Given the description of an element on the screen output the (x, y) to click on. 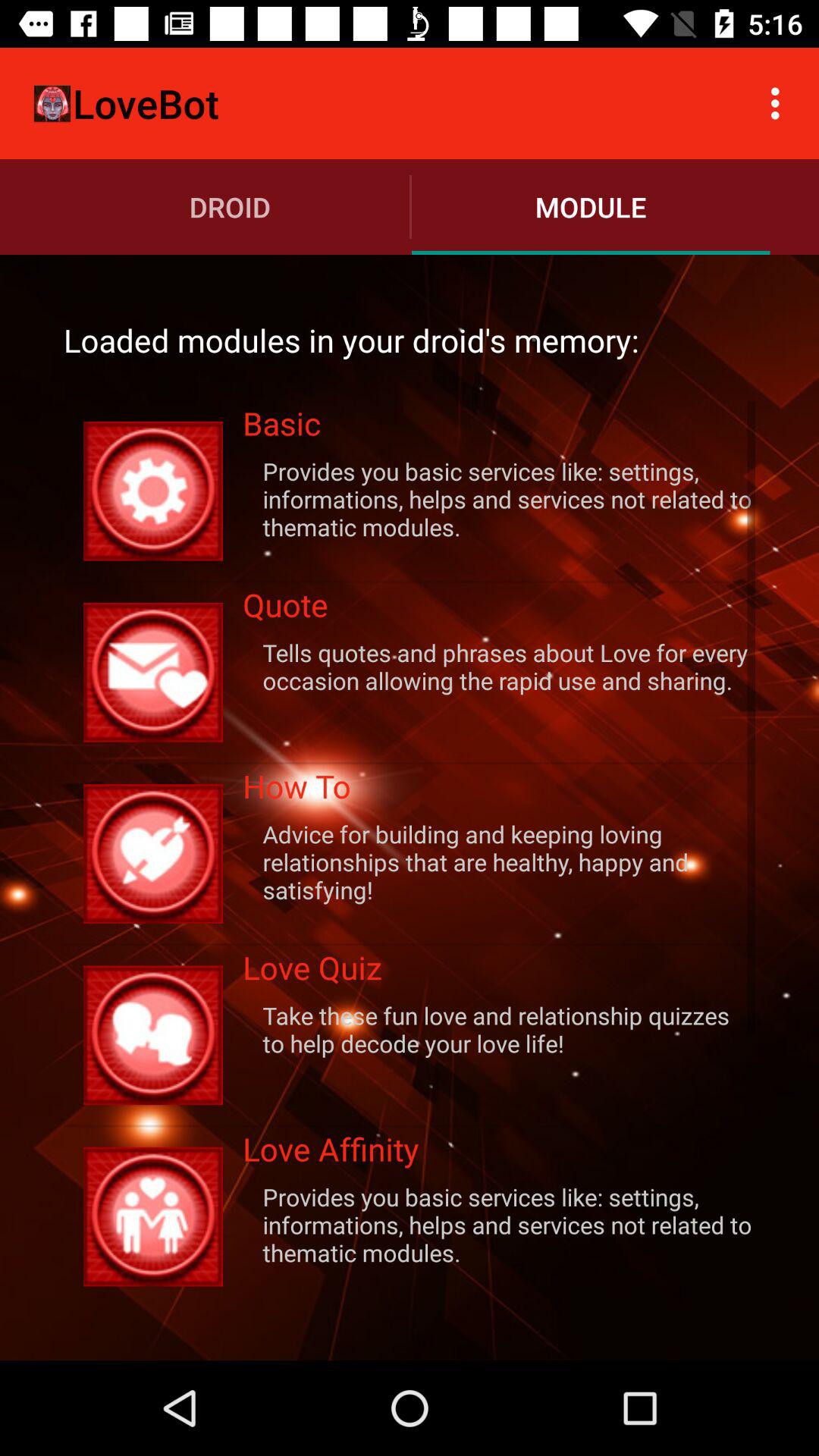
turn off the item below love quiz icon (498, 1029)
